Given the description of an element on the screen output the (x, y) to click on. 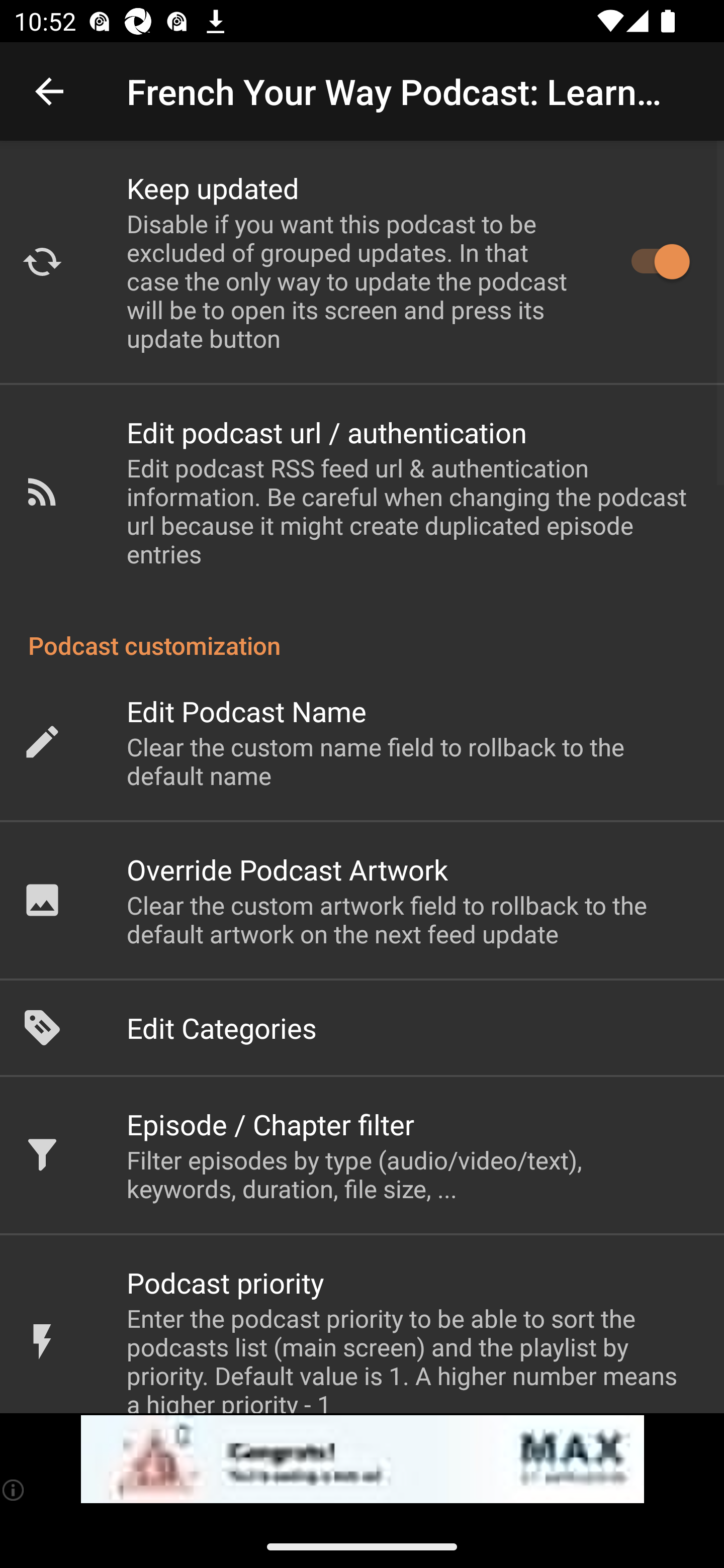
Navigate up (49, 91)
Edit Categories (362, 1027)
app-monetization (362, 1459)
(i) (14, 1489)
